Given the description of an element on the screen output the (x, y) to click on. 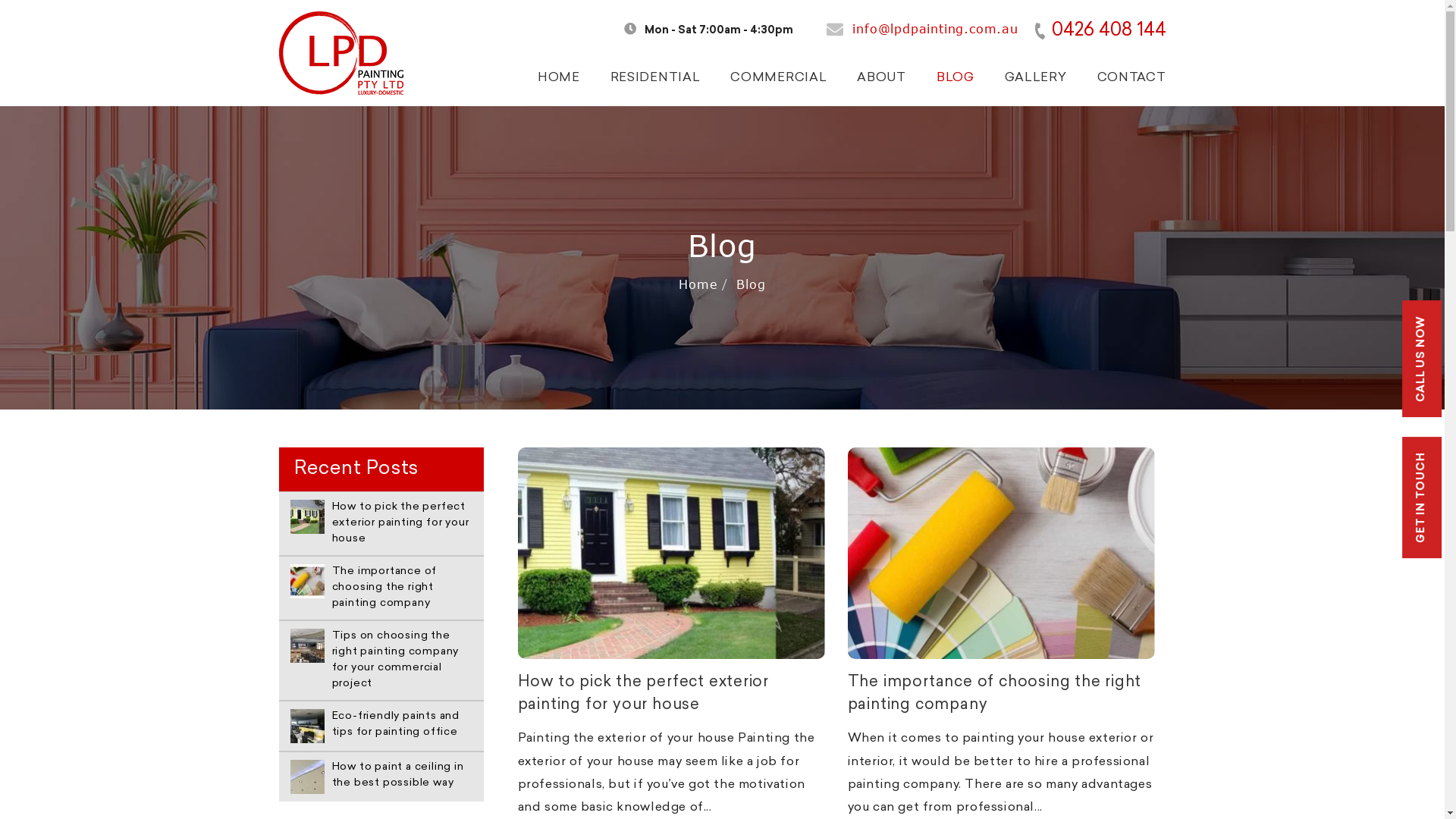
The importance of choosing the right painting company Element type: hover (1000, 552)
COMMERCIAL Element type: text (778, 77)
Home Element type: text (697, 283)
LPD Painting Pty Ltd Element type: hover (341, 52)
Interior Home Painters Element type: hover (306, 776)
ABOUT Element type: text (881, 77)
GALLERY Element type: text (1035, 77)
Exterior House Painters Melbourne Element type: hover (670, 552)
The importance of choosing the right painting company Element type: text (380, 587)
info@lpdpainting.com.au Element type: text (934, 28)
How to pick the perfect exterior painting for your house Element type: text (380, 522)
Commercial Painting Melbourne Element type: hover (306, 644)
Painting Companies Melbourne Element type: hover (306, 581)
LPD Painting Pty Ltd Element type: hover (341, 50)
CONTACT Element type: text (1131, 77)
How to paint a ceiling in the best possible way Element type: text (380, 776)
Office Painters St Kilda Element type: hover (306, 725)
How to pick the perfect exterior painting for your house Element type: text (670, 693)
Exterior House Painters Melbourne Element type: hover (306, 515)
The importance of choosing the right painting company Element type: text (1000, 693)
0426 408 144 Element type: text (1099, 30)
How to pick the perfect exterior painting for your house Element type: hover (670, 552)
RESIDENTIAL Element type: text (655, 77)
HOME Element type: text (558, 77)
Eco-friendly paints and tips for painting office Element type: text (380, 725)
Painting Companies Melbourne Element type: hover (1000, 552)
BLOG Element type: text (955, 77)
